Given the description of an element on the screen output the (x, y) to click on. 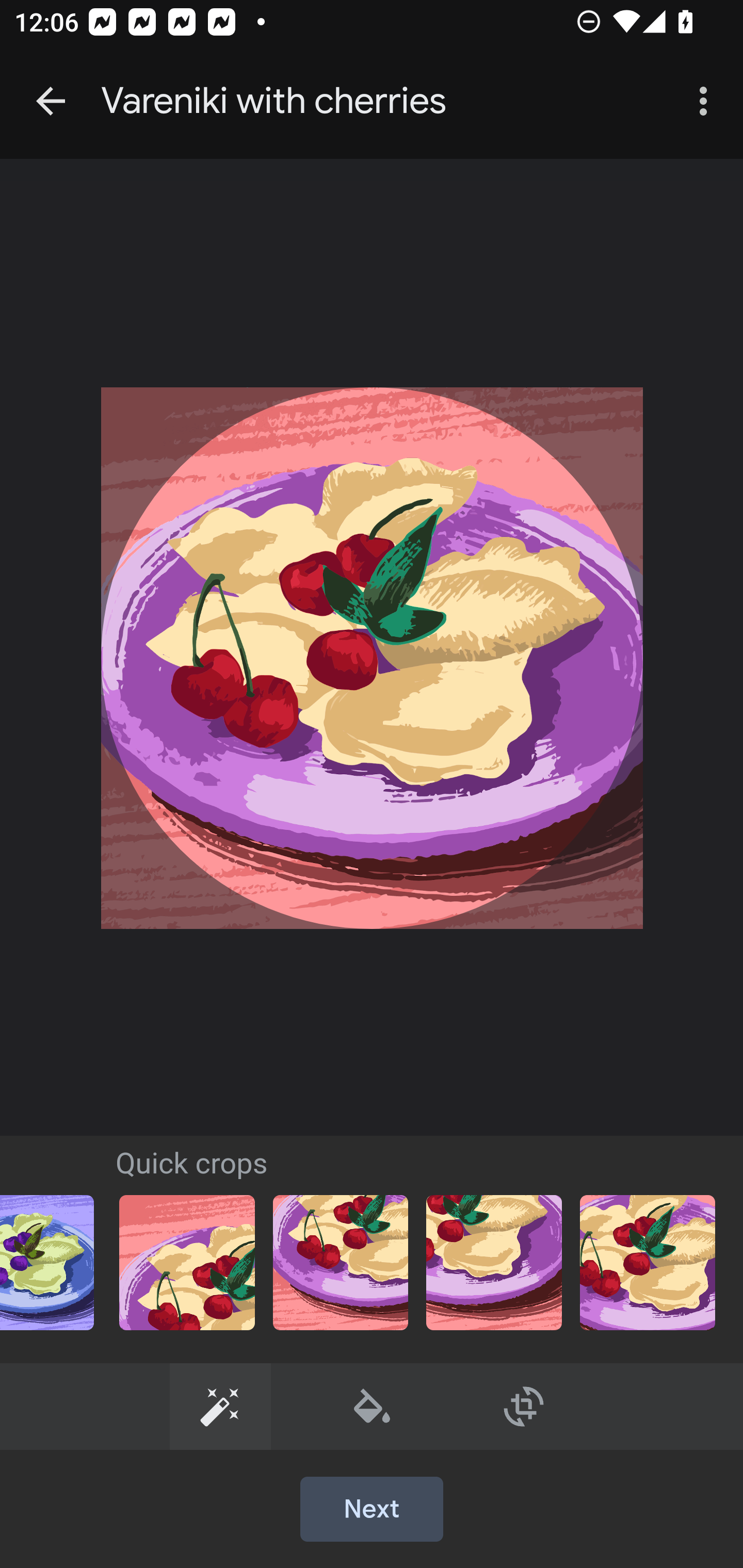
Navigate up (50, 101)
More options (706, 101)
Presets (220, 1406)
Colorize (372, 1406)
Crop (523, 1406)
Next (371, 1509)
